Given the description of an element on the screen output the (x, y) to click on. 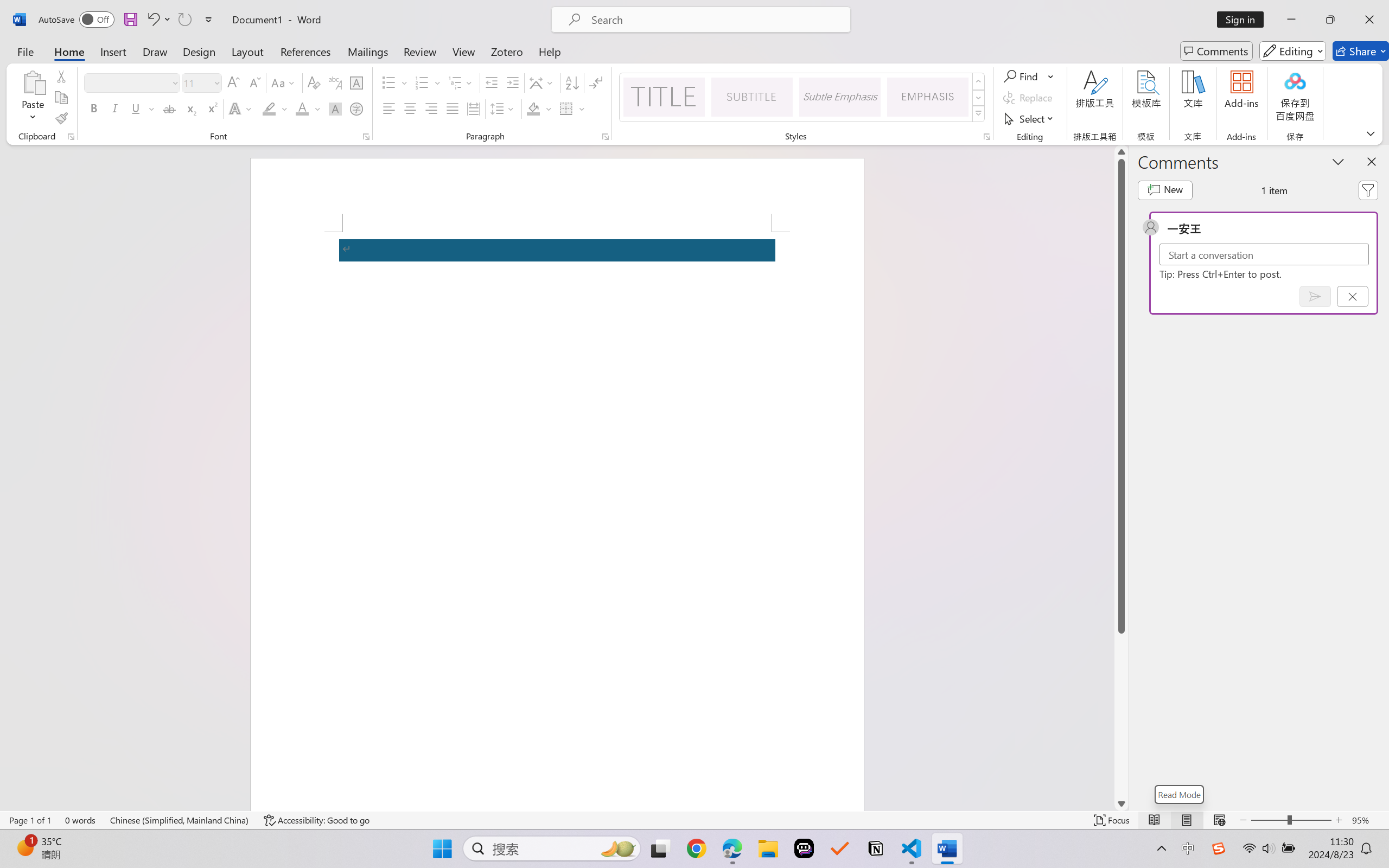
Emphasis (927, 96)
Filter (1367, 190)
Subtle Emphasis (839, 96)
Page down (1120, 714)
